Given the description of an element on the screen output the (x, y) to click on. 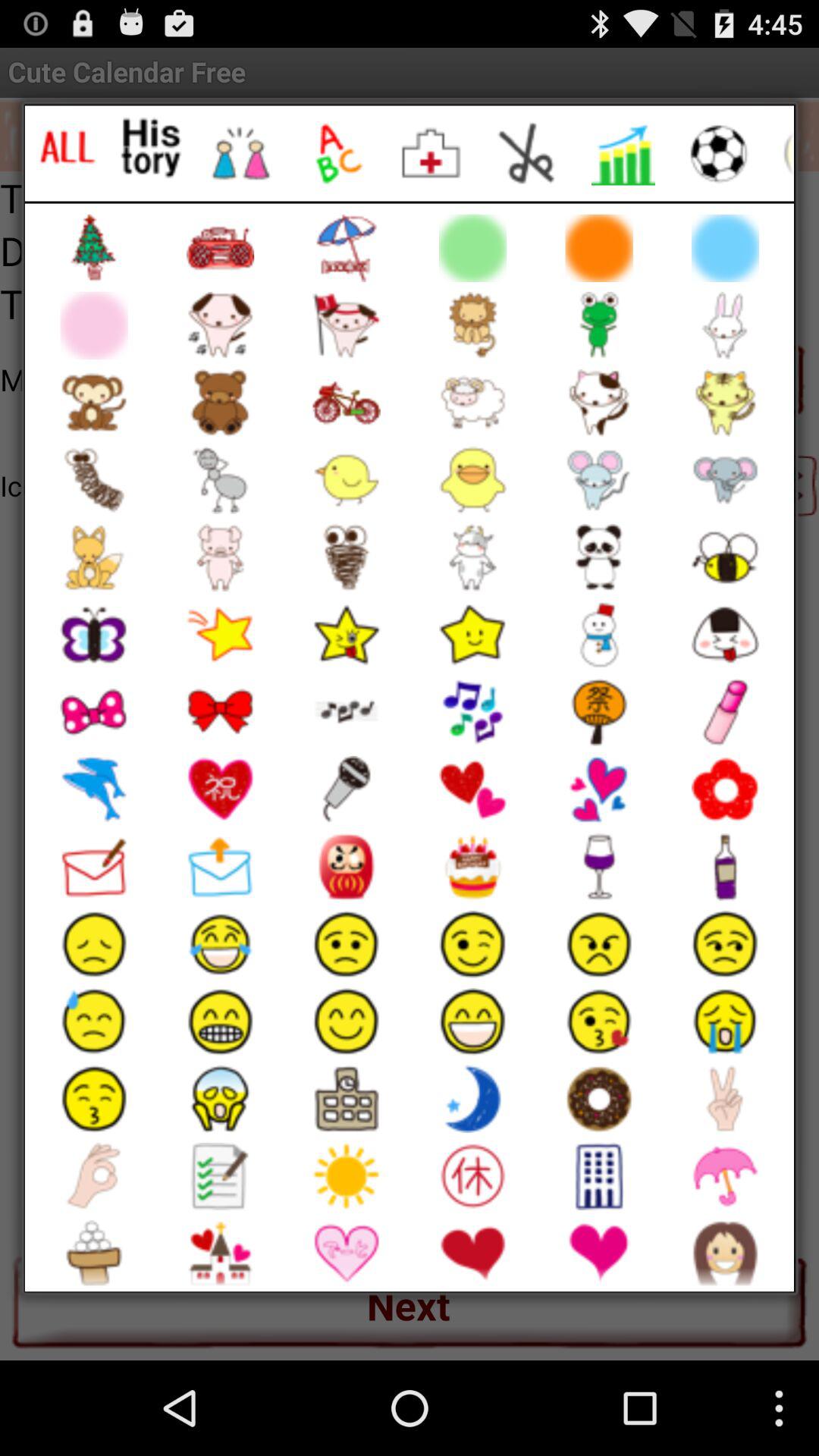
select a page of options emojis (527, 153)
